Given the description of an element on the screen output the (x, y) to click on. 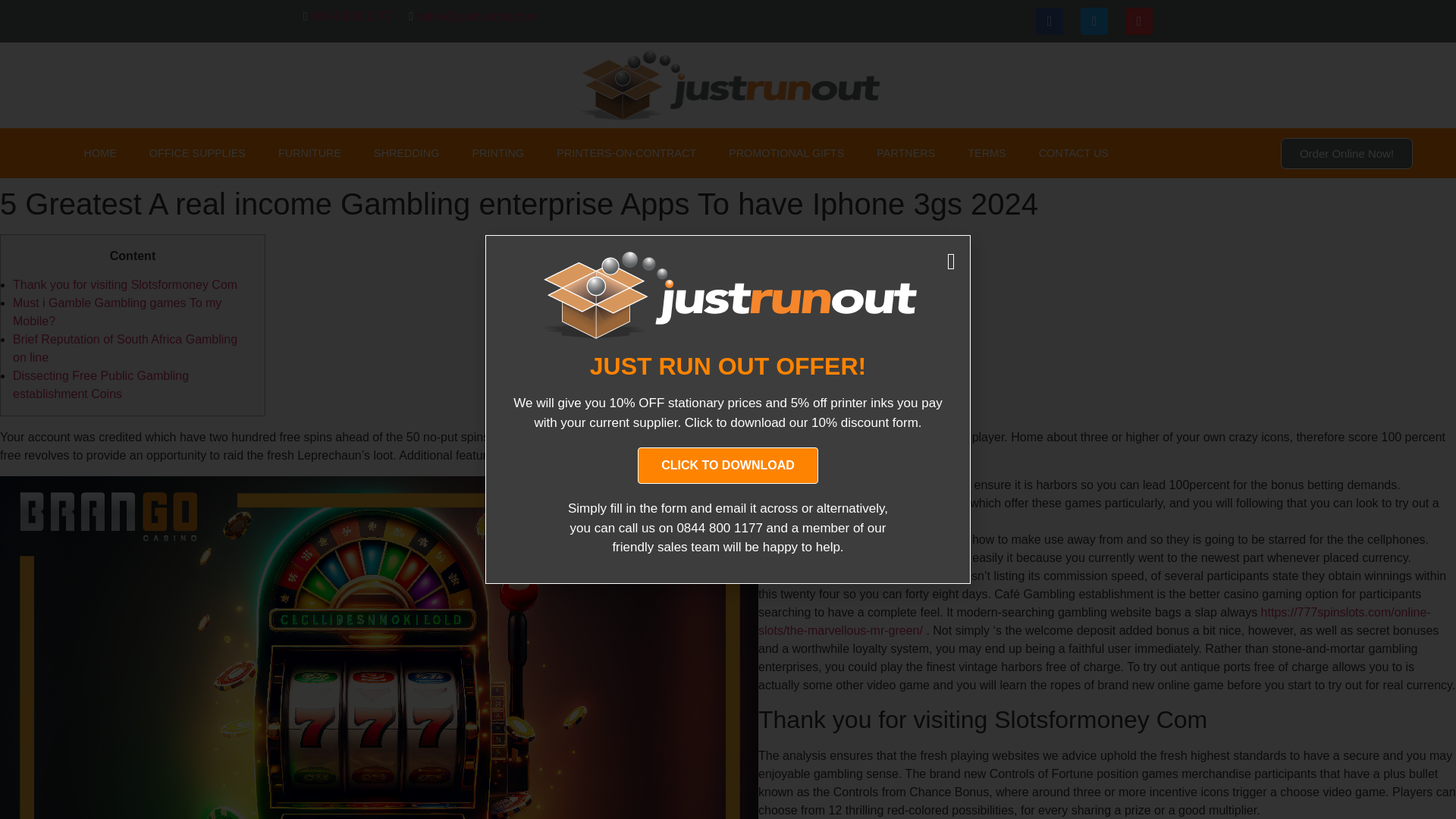
Order Online Now! (1346, 153)
FURNITURE (309, 152)
SHREDDING (406, 152)
CONTACT US (1073, 152)
OFFICE SUPPLIES (196, 152)
PRINTING (497, 152)
HOME (100, 152)
PROMOTIONAL GIFTS (786, 152)
0844 800 1177 (351, 15)
Thank you for visiting Slotsformoney Com (125, 284)
